Given the description of an element on the screen output the (x, y) to click on. 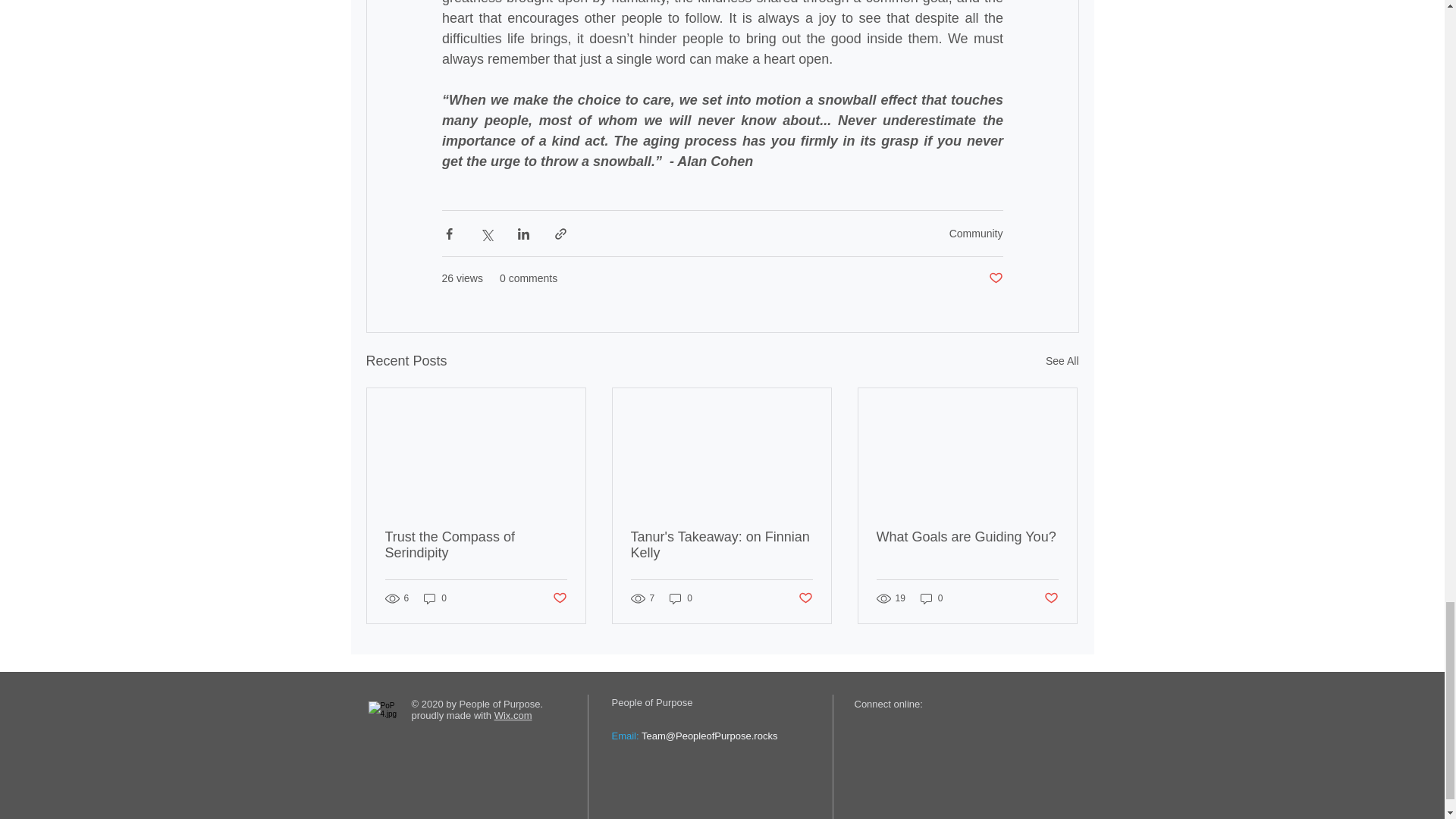
0 (435, 598)
Post not marked as liked (995, 278)
Tanur's Takeaway: on Finnian Kelly (721, 545)
Community (976, 233)
Post not marked as liked (558, 597)
0 (681, 598)
0 (931, 598)
Trust the Compass of Serindipity (476, 545)
Post not marked as liked (804, 597)
Post not marked as liked (1050, 597)
What Goals are Guiding You? (967, 537)
See All (1061, 361)
Wix.com (513, 715)
